Given the description of an element on the screen output the (x, y) to click on. 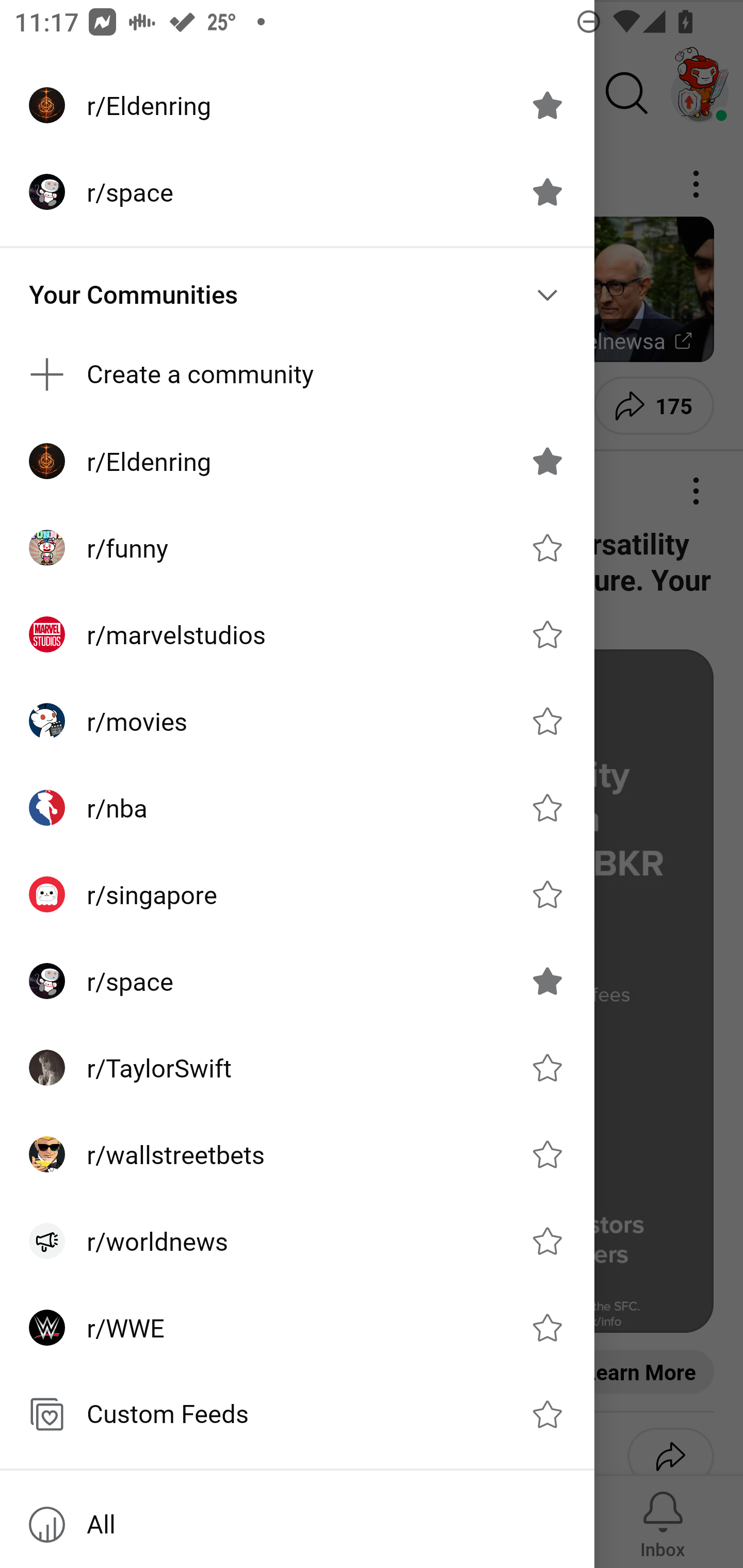
r/Eldenring Unfavorite r/Eldenring (297, 104)
Unfavorite r/Eldenring (546, 104)
r/space Unfavorite r/space (297, 191)
Unfavorite r/space (546, 192)
Your Communities (297, 294)
Create a community (297, 373)
r/Eldenring Unfavorite r/Eldenring (297, 460)
Unfavorite r/Eldenring (546, 460)
r/funny Favorite r/funny (297, 547)
Favorite r/funny (546, 548)
r/marvelstudios Favorite r/marvelstudios (297, 634)
Favorite r/marvelstudios (546, 634)
r/movies Favorite r/movies (297, 721)
Favorite r/movies (546, 721)
r/nba Favorite r/nba (297, 808)
Favorite r/nba (546, 807)
r/singapore Favorite r/singapore (297, 894)
Favorite r/singapore (546, 894)
r/space Unfavorite r/space (297, 980)
Unfavorite r/space (546, 980)
r/TaylorSwift Favorite r/TaylorSwift (297, 1067)
Favorite r/TaylorSwift (546, 1067)
r/wallstreetbets Favorite r/wallstreetbets (297, 1154)
Favorite r/wallstreetbets (546, 1154)
r/worldnews Favorite r/worldnews (297, 1240)
Favorite r/worldnews (546, 1241)
r/WWE Favorite r/WWE (297, 1327)
Favorite r/WWE (546, 1327)
Custom Feeds (297, 1414)
All (297, 1524)
